Given the description of an element on the screen output the (x, y) to click on. 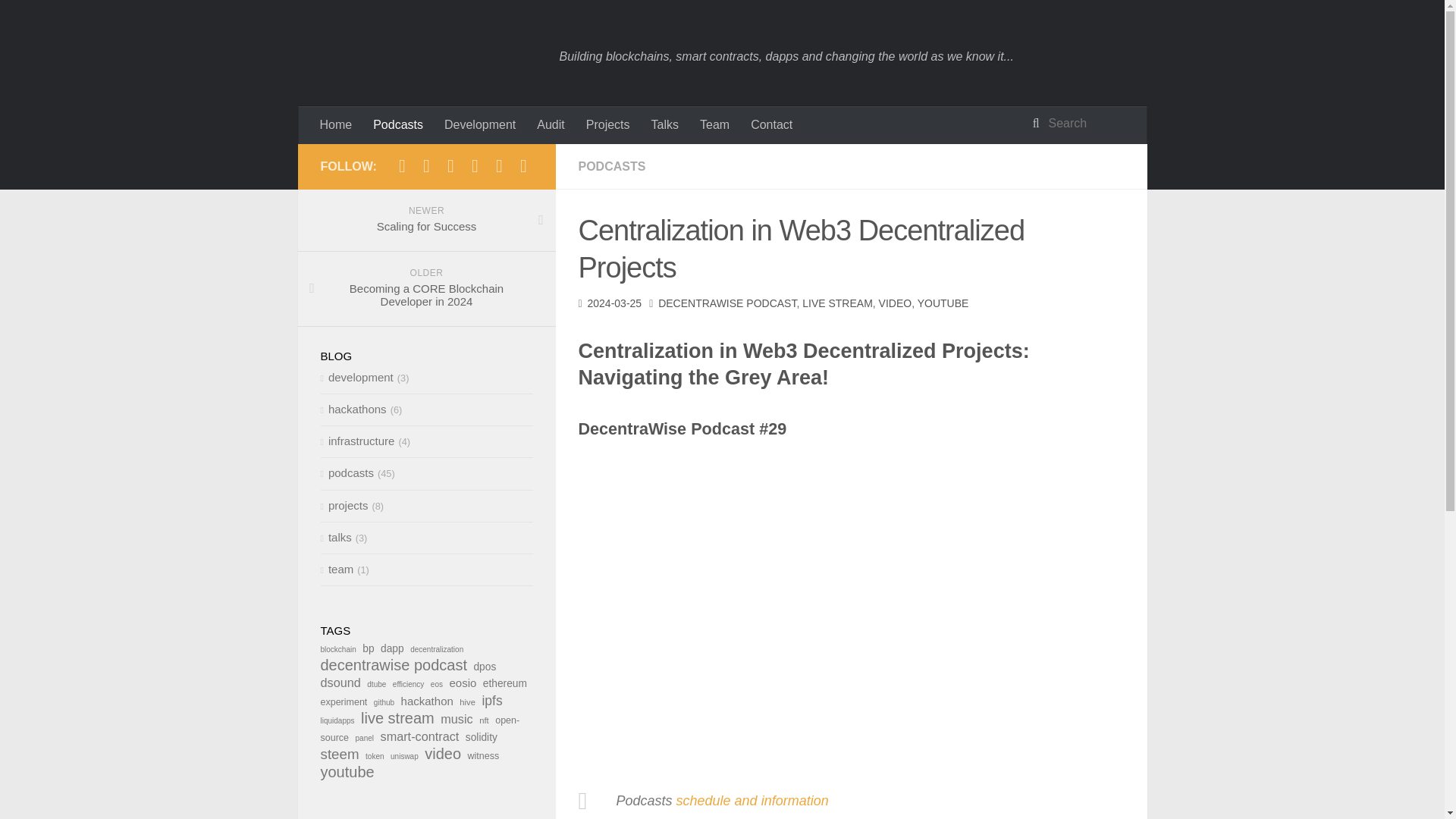
infrastructure (357, 440)
telegram (401, 168)
team (336, 568)
Talks (664, 125)
Podcasts (397, 125)
podcasts (346, 472)
2024-03-25 (615, 303)
Projects (607, 125)
Contact (771, 125)
Home (335, 125)
